Given the description of an element on the screen output the (x, y) to click on. 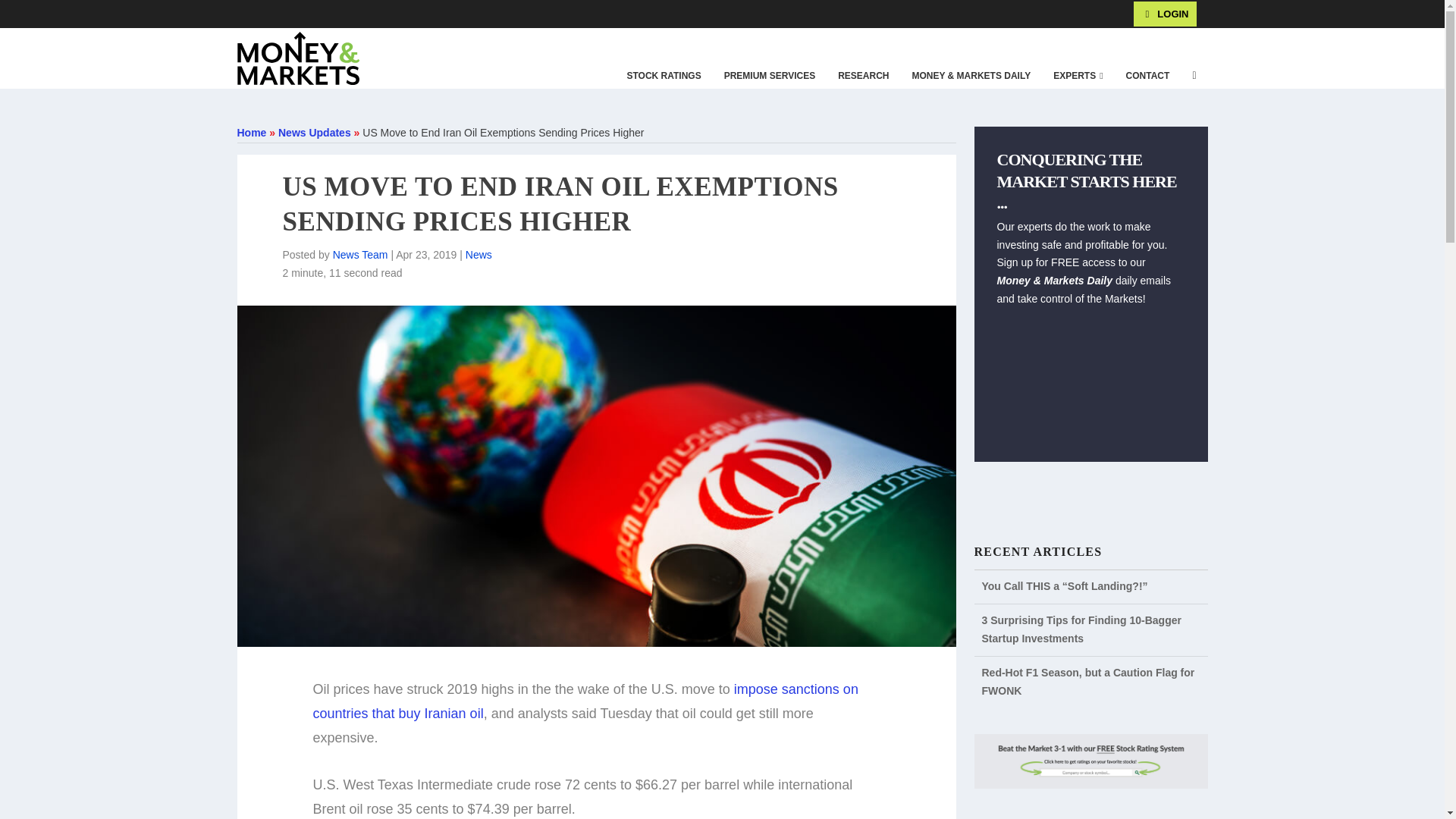
News Team (360, 254)
Red-Hot F1 Season, but a Caution Flag for FWONK (1087, 681)
3 Surprising Tips for Finding 10-Bagger Startup Investments (1080, 629)
Home (250, 132)
Total Wealth Fellowship (253, 13)
impose sanctions on countries that buy Iranian oil (585, 701)
EXPERTS (1077, 75)
PREMIUM SERVICES (770, 75)
News (478, 254)
RESEARCH (863, 75)
